Given the description of an element on the screen output the (x, y) to click on. 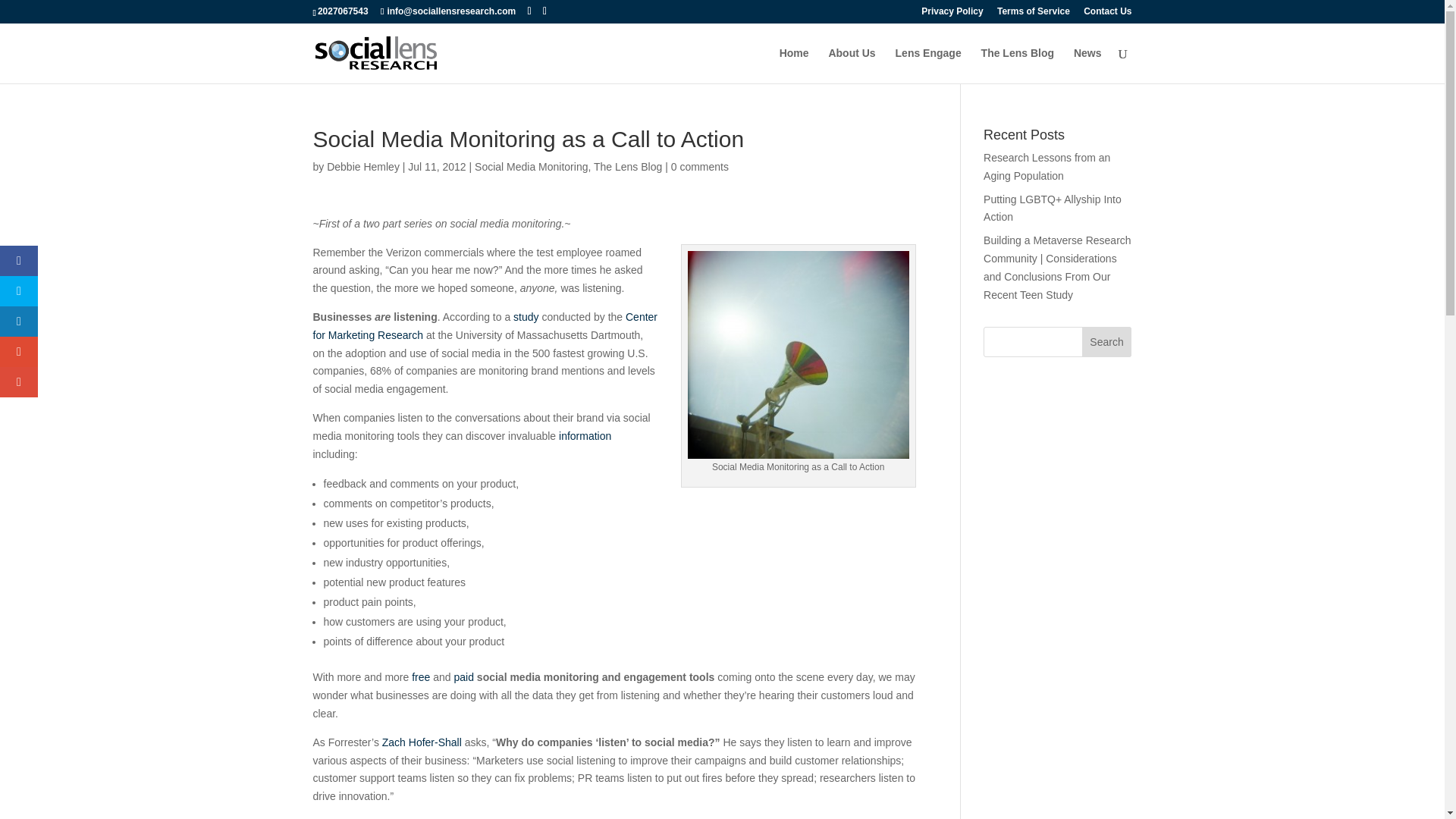
Search (1106, 341)
0 comments (700, 166)
Center for Marketing Research (485, 326)
Lens Engage (927, 65)
Privacy Policy (951, 14)
Posts by Debbie Hemley (362, 166)
Terms of Service (1033, 14)
Debbie Hemley (362, 166)
study (525, 316)
About Us (851, 65)
